Given the description of an element on the screen output the (x, y) to click on. 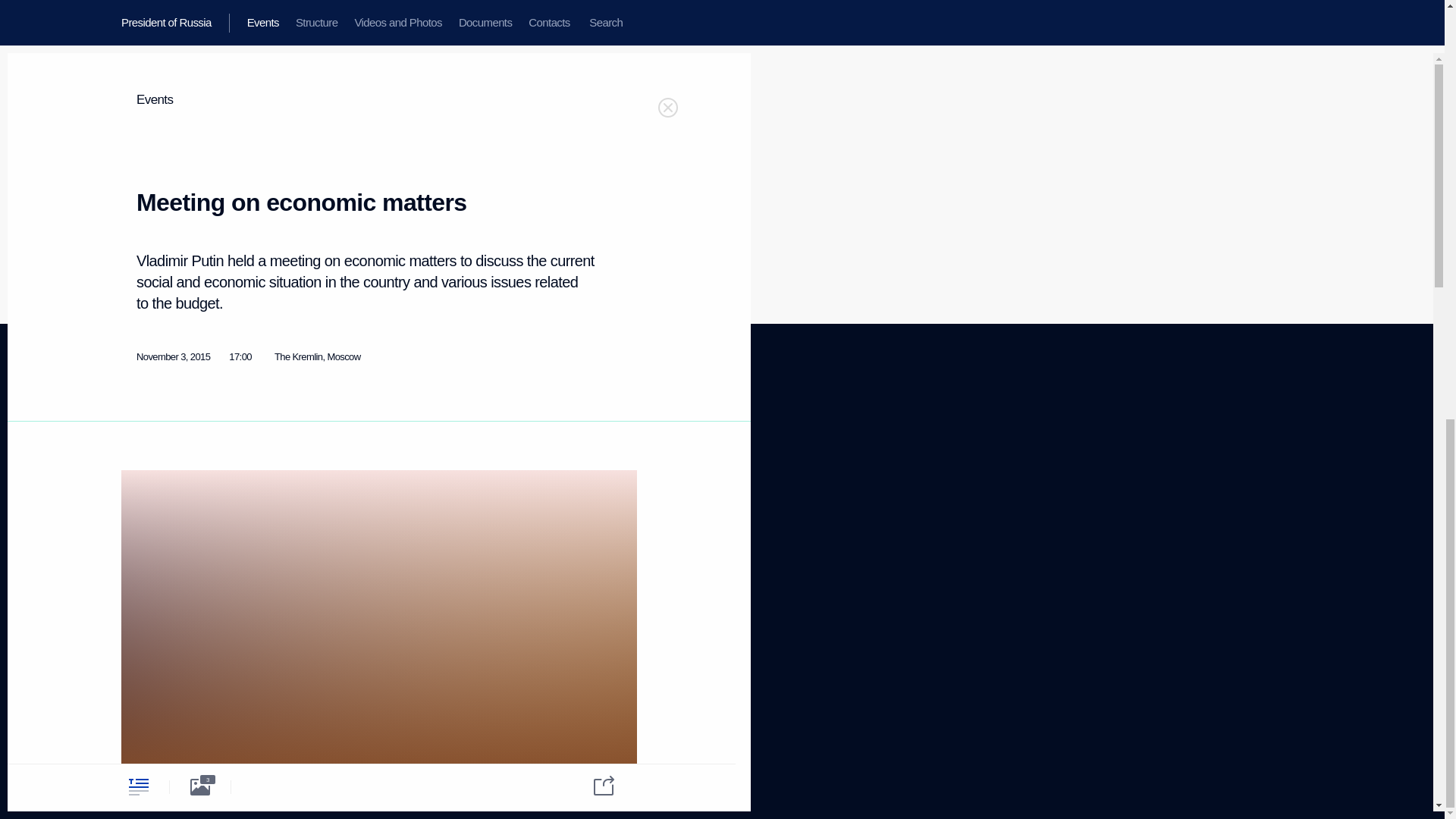
Version for People with Disabilities (165, 668)
Using website content (574, 460)
The Constitution of Russia (309, 472)
Creative Commons Attribution 4.0 International (317, 447)
Directory (582, 764)
Search (138, 625)
Contacts (134, 535)
State Insignia (138, 516)
Events (284, 491)
Maxim Topilin (134, 440)
Documents (172, 23)
Telegram Channel (143, 497)
YouTube Channel (430, 455)
Personal data of website users (429, 474)
